Given the description of an element on the screen output the (x, y) to click on. 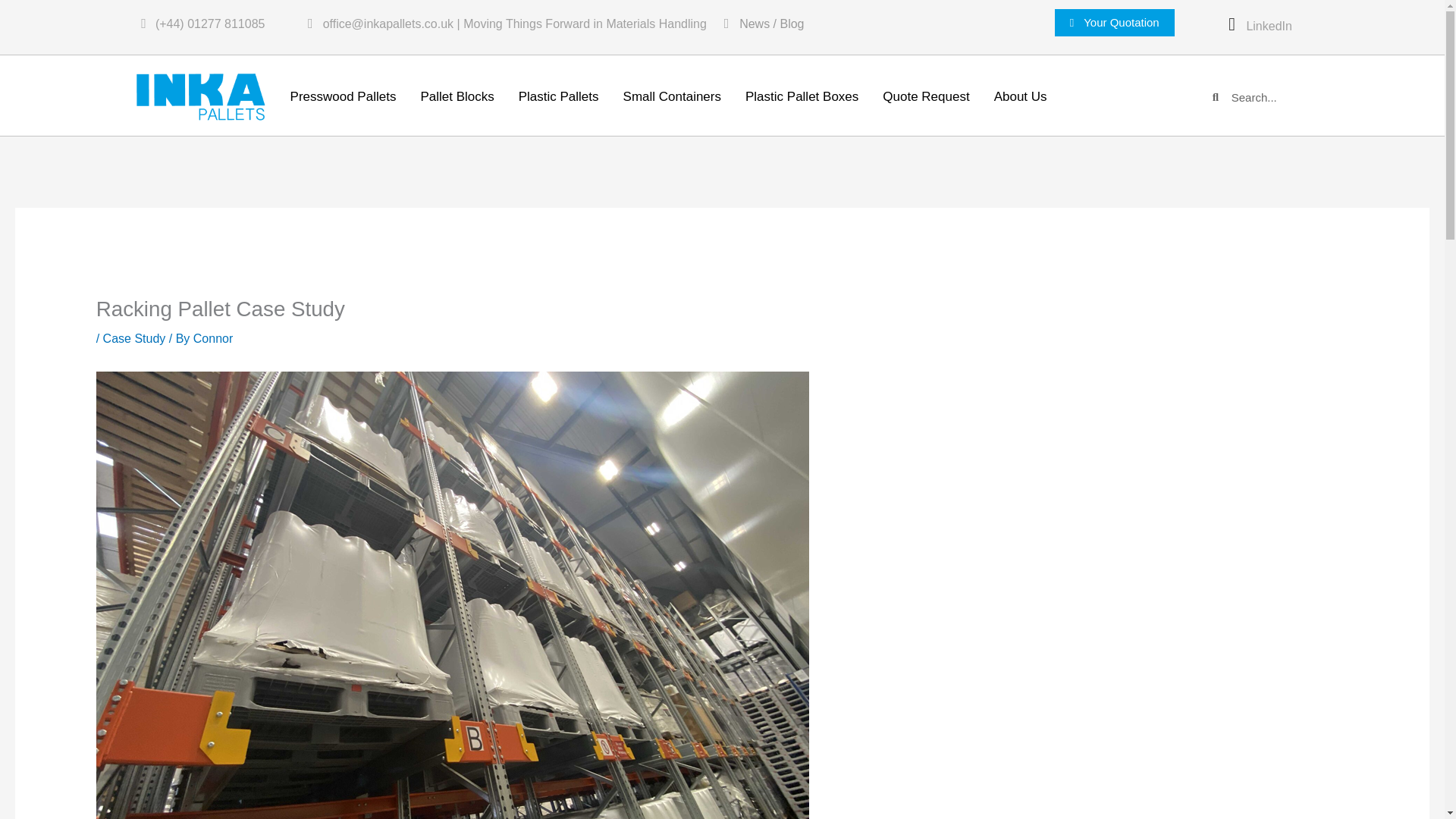
View all posts by Connor (212, 338)
Pallet Blocks (456, 96)
Plastic Pallets (558, 96)
Your Quotation (1114, 22)
Small Containers (672, 96)
Presswood Pallets (343, 96)
LinkedIn (1269, 25)
